Given the description of an element on the screen output the (x, y) to click on. 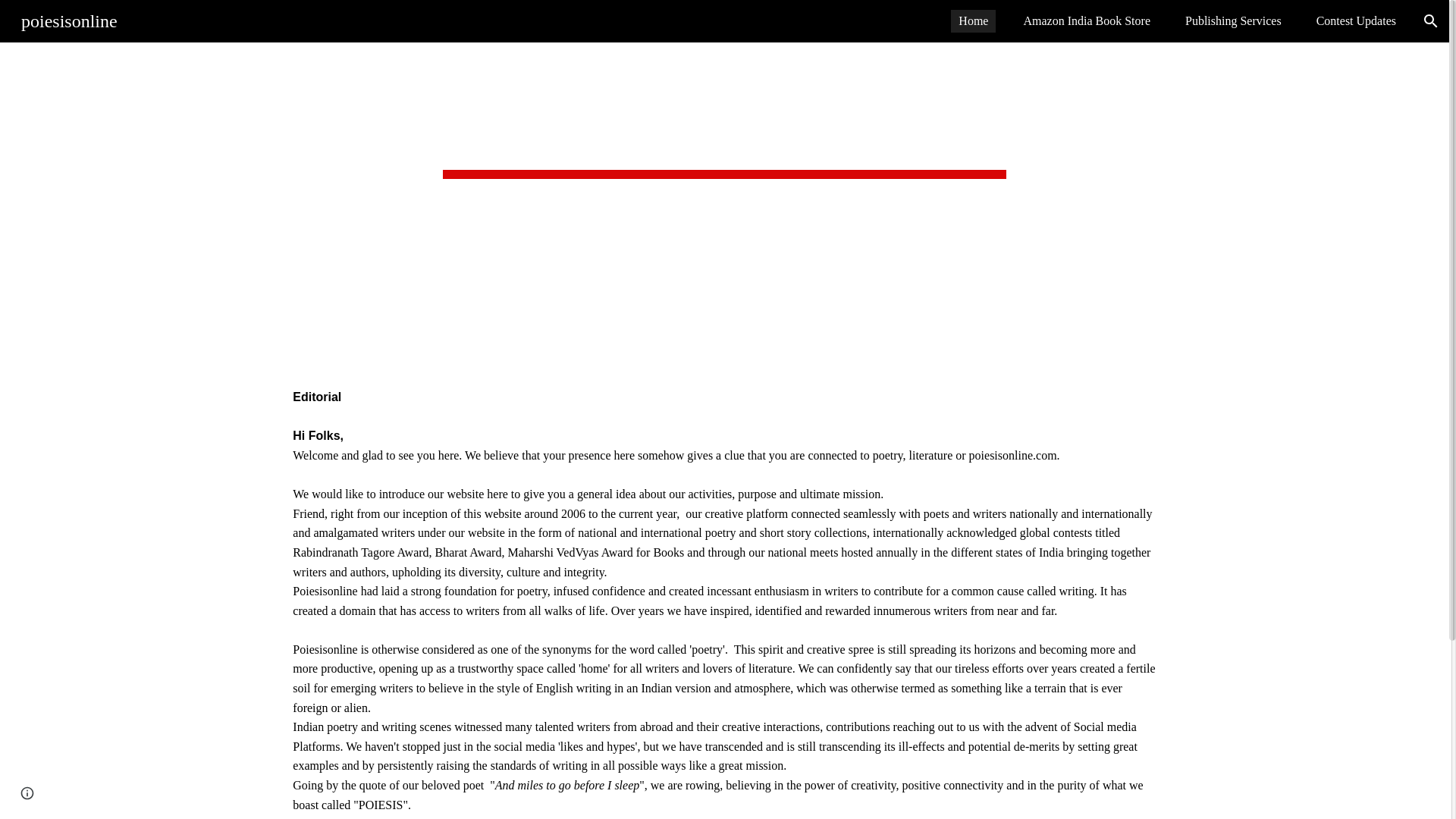
Amazon India Book Store (1085, 20)
Publishing Services (1232, 20)
WWW.POIESISONLINE.COM (724, 127)
poiesisonline (68, 19)
Home (972, 20)
Contest Updates (1355, 20)
